Given the description of an element on the screen output the (x, y) to click on. 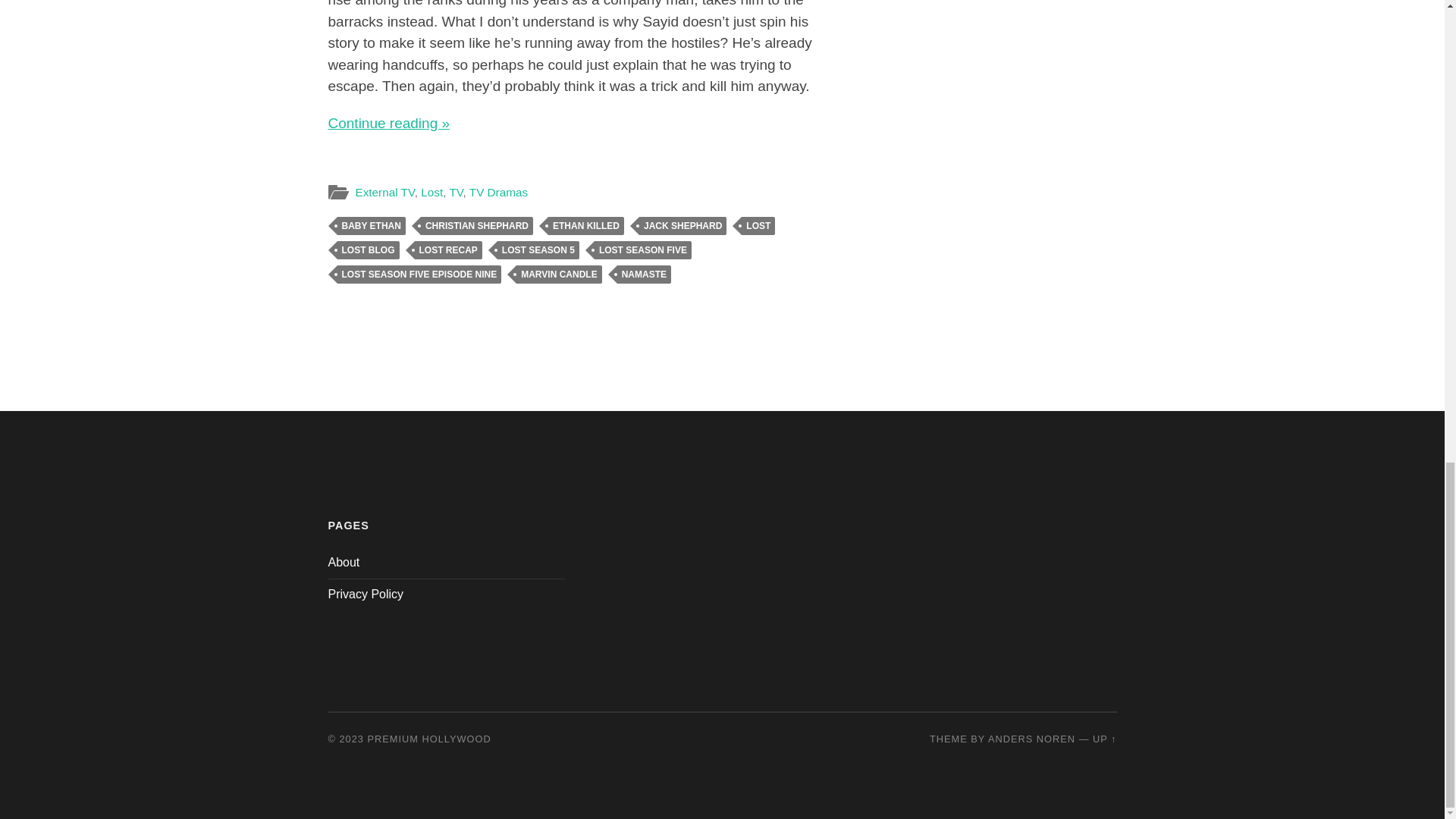
LOST BLOG (367, 249)
LOST SEASON FIVE (642, 249)
LOST SEASON FIVE EPISODE NINE (418, 274)
LOST SEASON 5 (538, 249)
LOST RECAP (447, 249)
LOST (757, 226)
TV Dramas (497, 192)
MARVIN CANDLE (558, 274)
ETHAN KILLED (586, 226)
BABY ETHAN (370, 226)
To the top (1104, 738)
Lost (431, 192)
TV (455, 192)
NAMASTE (644, 274)
External TV (384, 192)
